Given the description of an element on the screen output the (x, y) to click on. 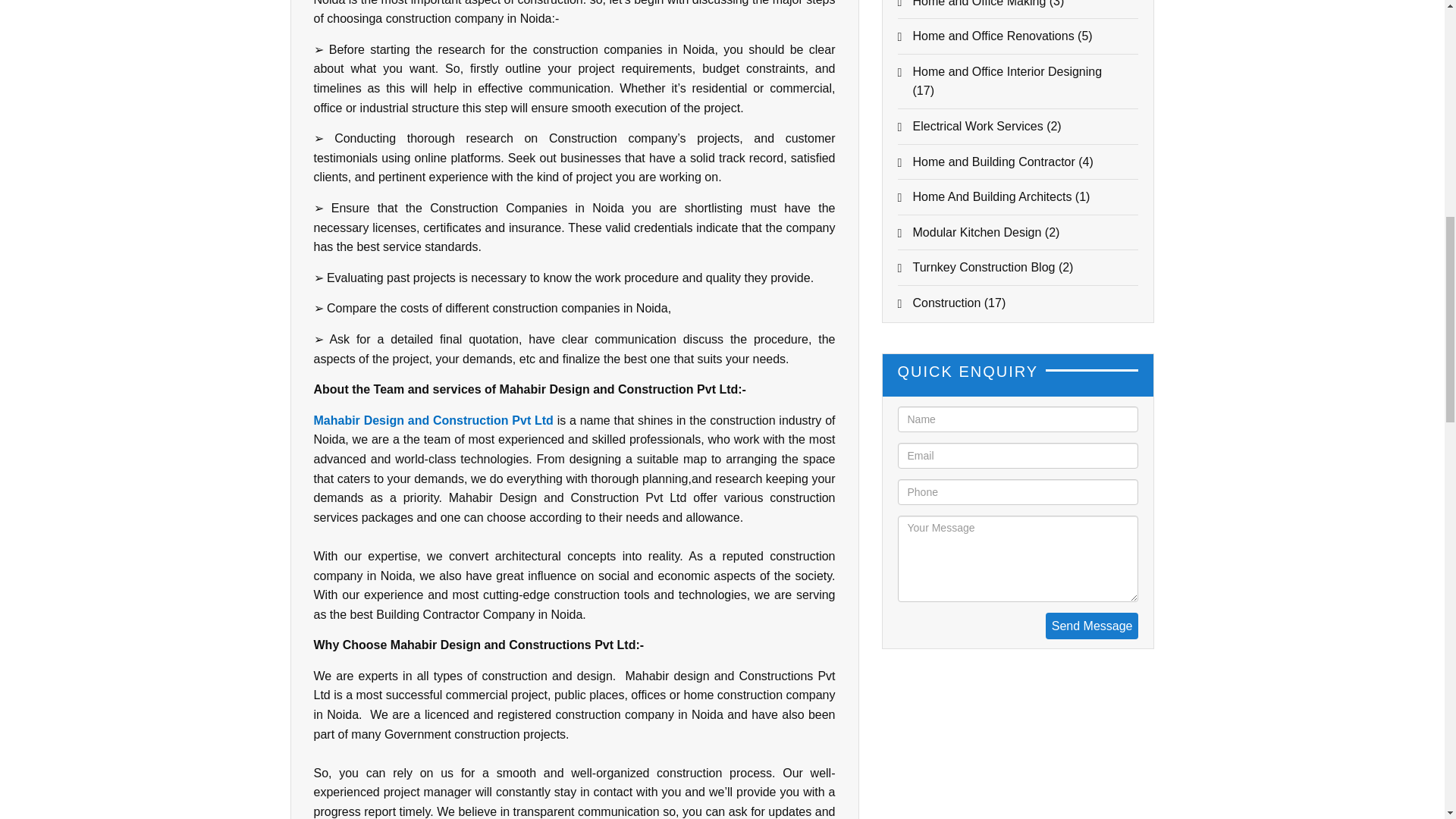
Mahabir Design and Construction Pvt Ltd (433, 420)
